Given the description of an element on the screen output the (x, y) to click on. 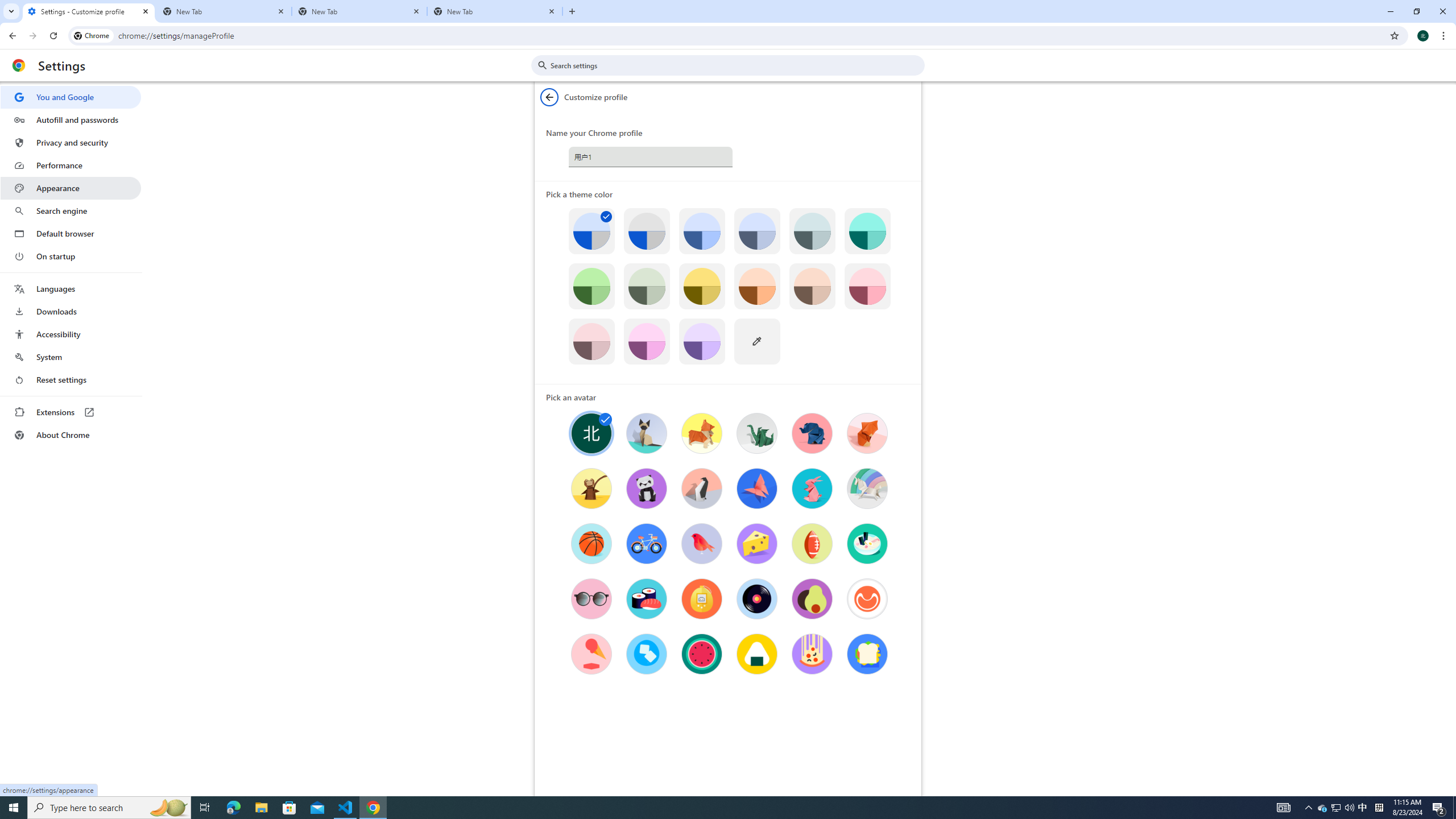
About Chrome (70, 434)
Extensions (70, 412)
Accessibility (70, 333)
Appearance (70, 187)
New Tab (494, 11)
Autofill and passwords (70, 119)
New Tab (224, 11)
Default browser (70, 233)
